Given the description of an element on the screen output the (x, y) to click on. 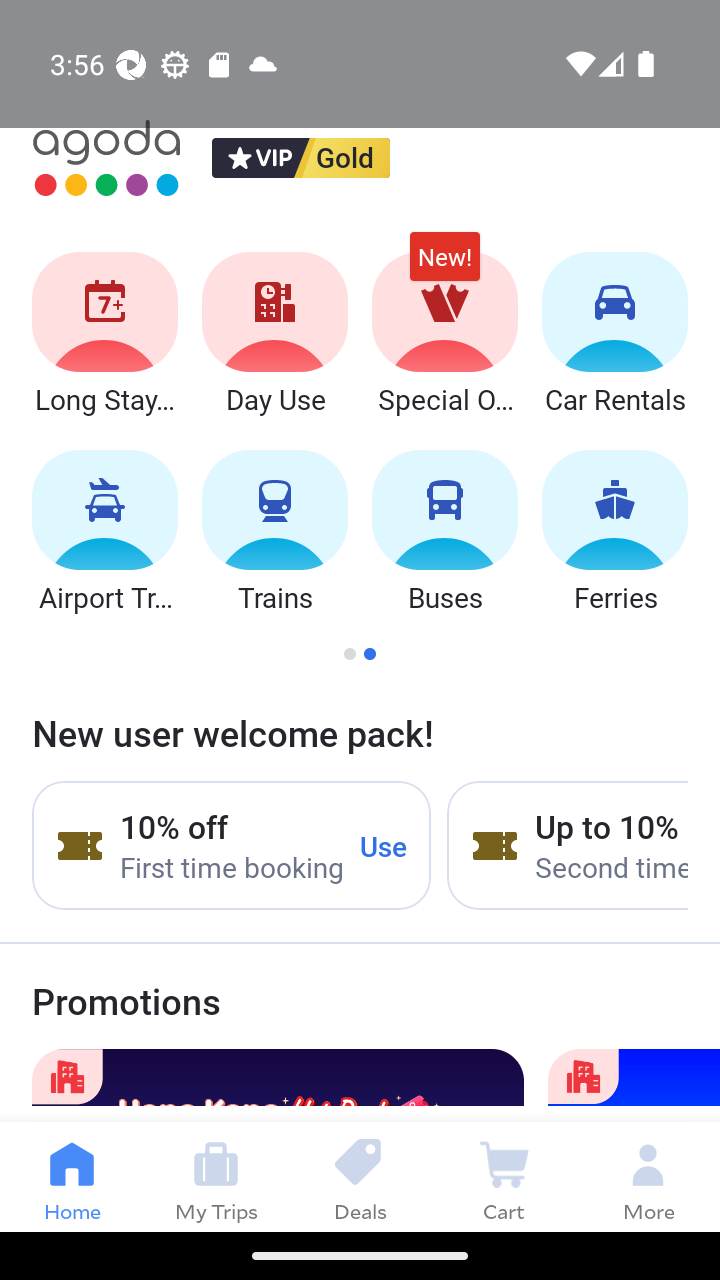
New! (444, 265)
Use (384, 845)
Home (72, 1176)
My Trips (216, 1176)
Deals (360, 1176)
Cart (504, 1176)
More (648, 1176)
